Given the description of an element on the screen output the (x, y) to click on. 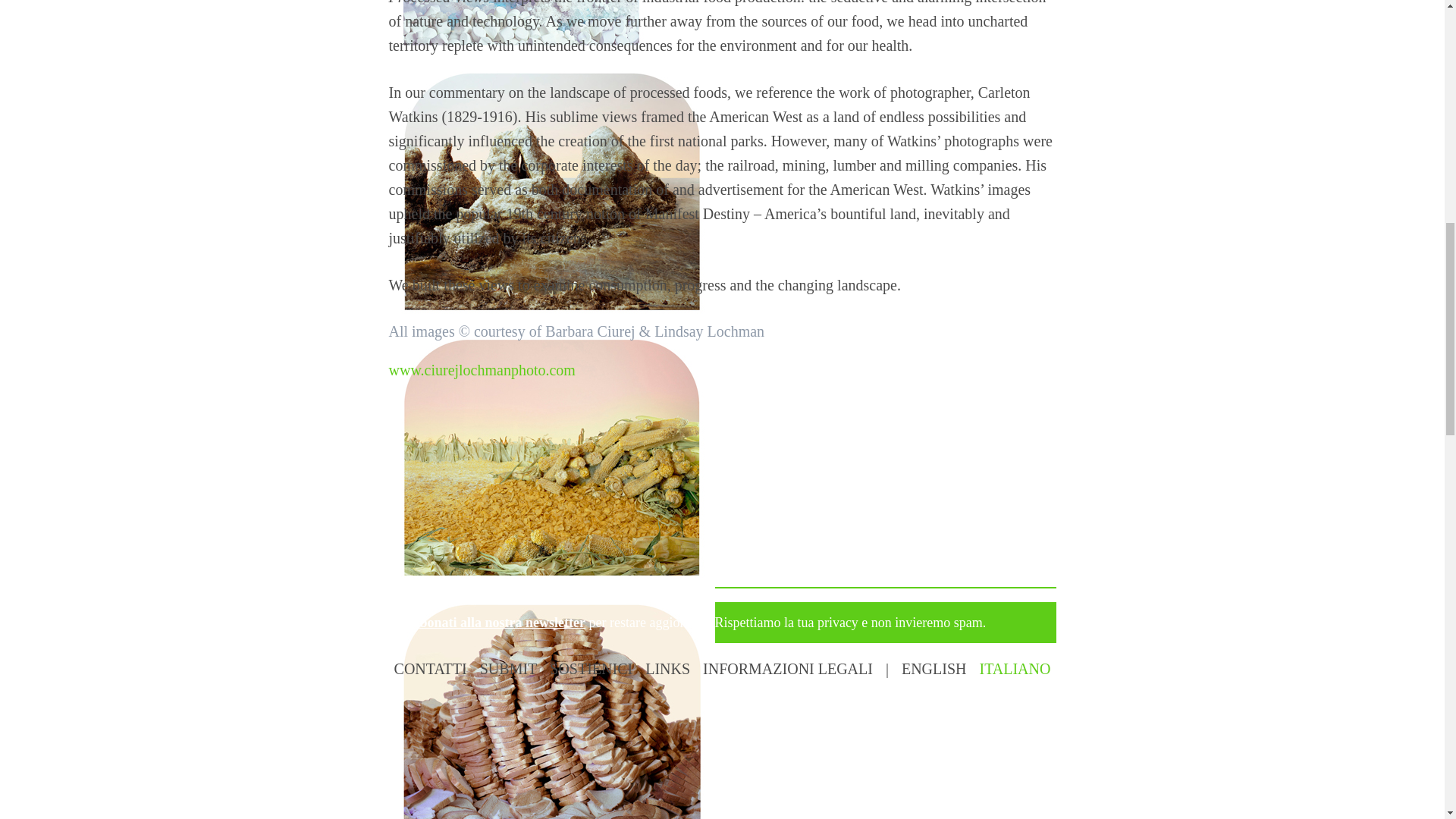
LINKS (667, 668)
CONTATTI (430, 668)
www.ciurejlochmanphoto.com (481, 369)
Abbonati alla nostra newsletter (493, 622)
SOSTIENICI (590, 668)
SUBMIT (508, 668)
Precedente (440, 472)
